Given the description of an element on the screen output the (x, y) to click on. 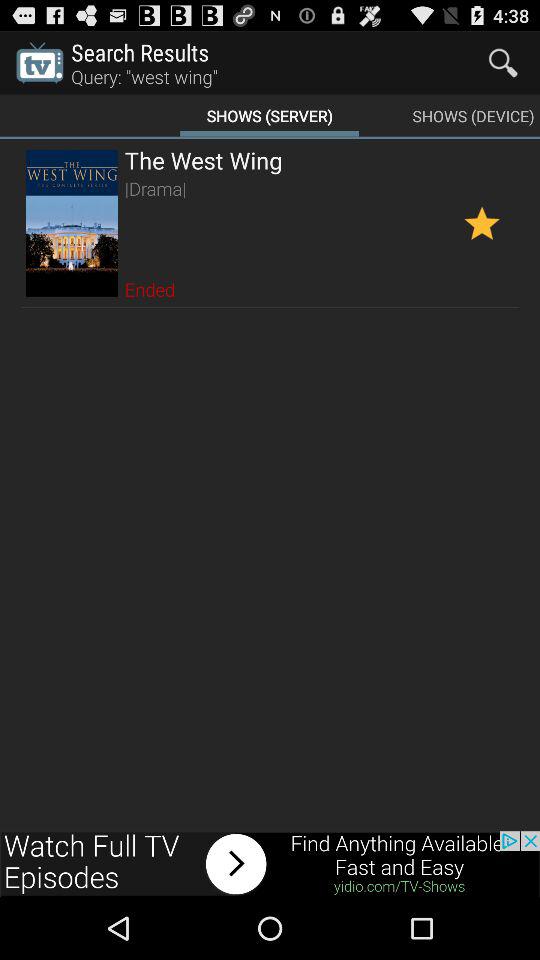
deselect show (481, 222)
